Given the description of an element on the screen output the (x, y) to click on. 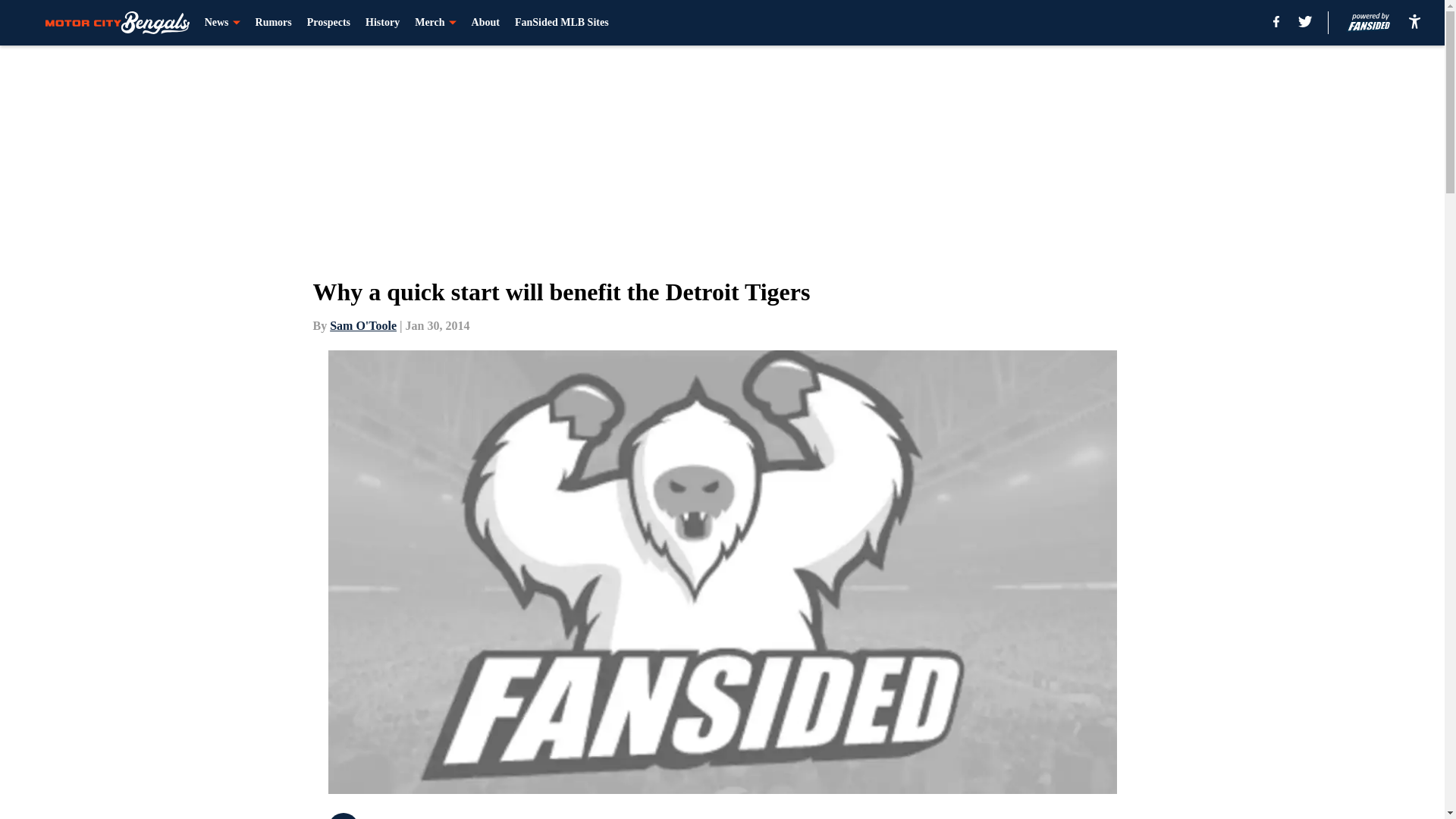
Rumors (274, 22)
Prospects (328, 22)
News (222, 22)
Sam O'Toole (363, 325)
FanSided MLB Sites (561, 22)
History (381, 22)
About (485, 22)
